Given the description of an element on the screen output the (x, y) to click on. 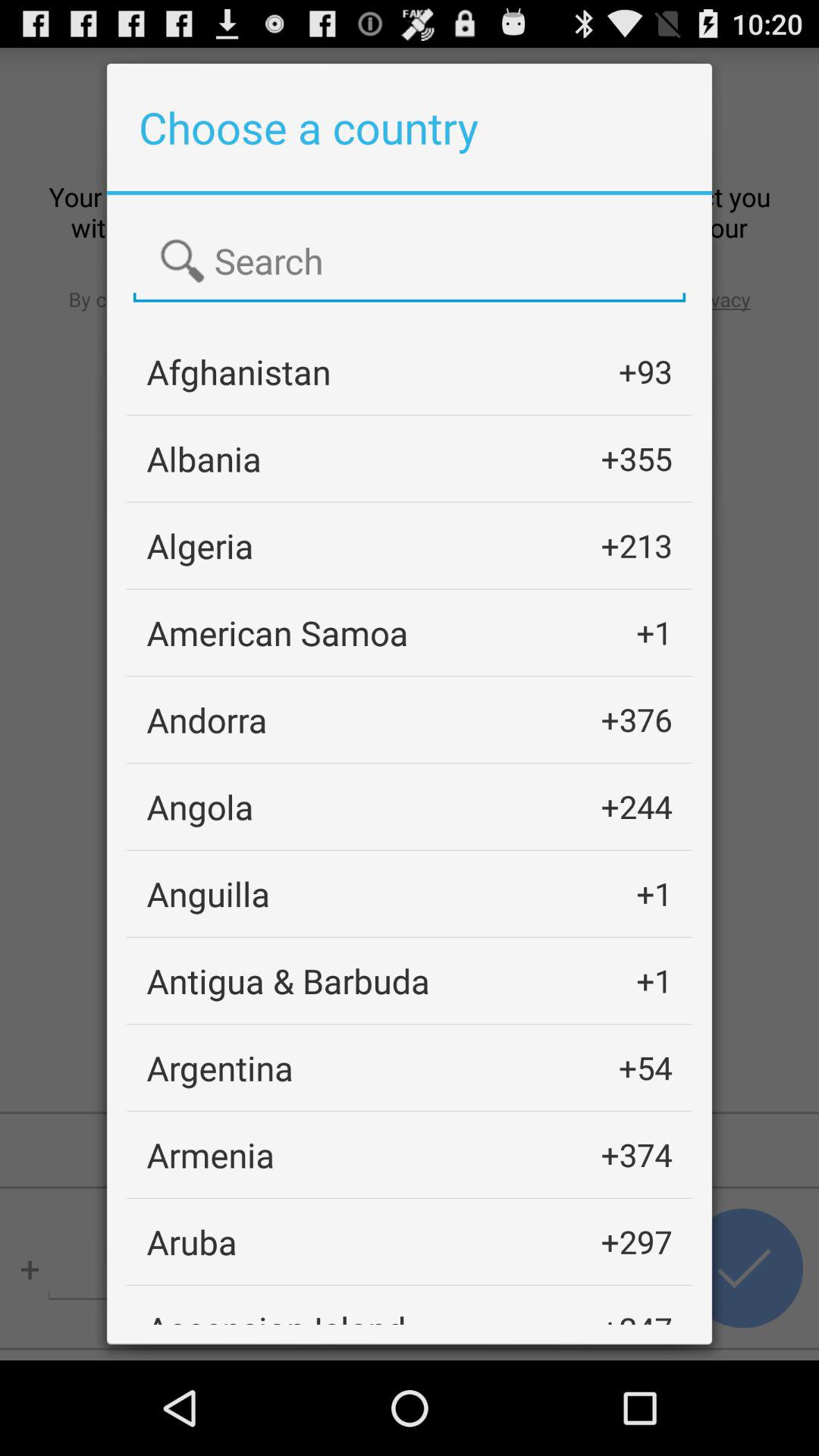
press icon next to the +1 icon (287, 980)
